Given the description of an element on the screen output the (x, y) to click on. 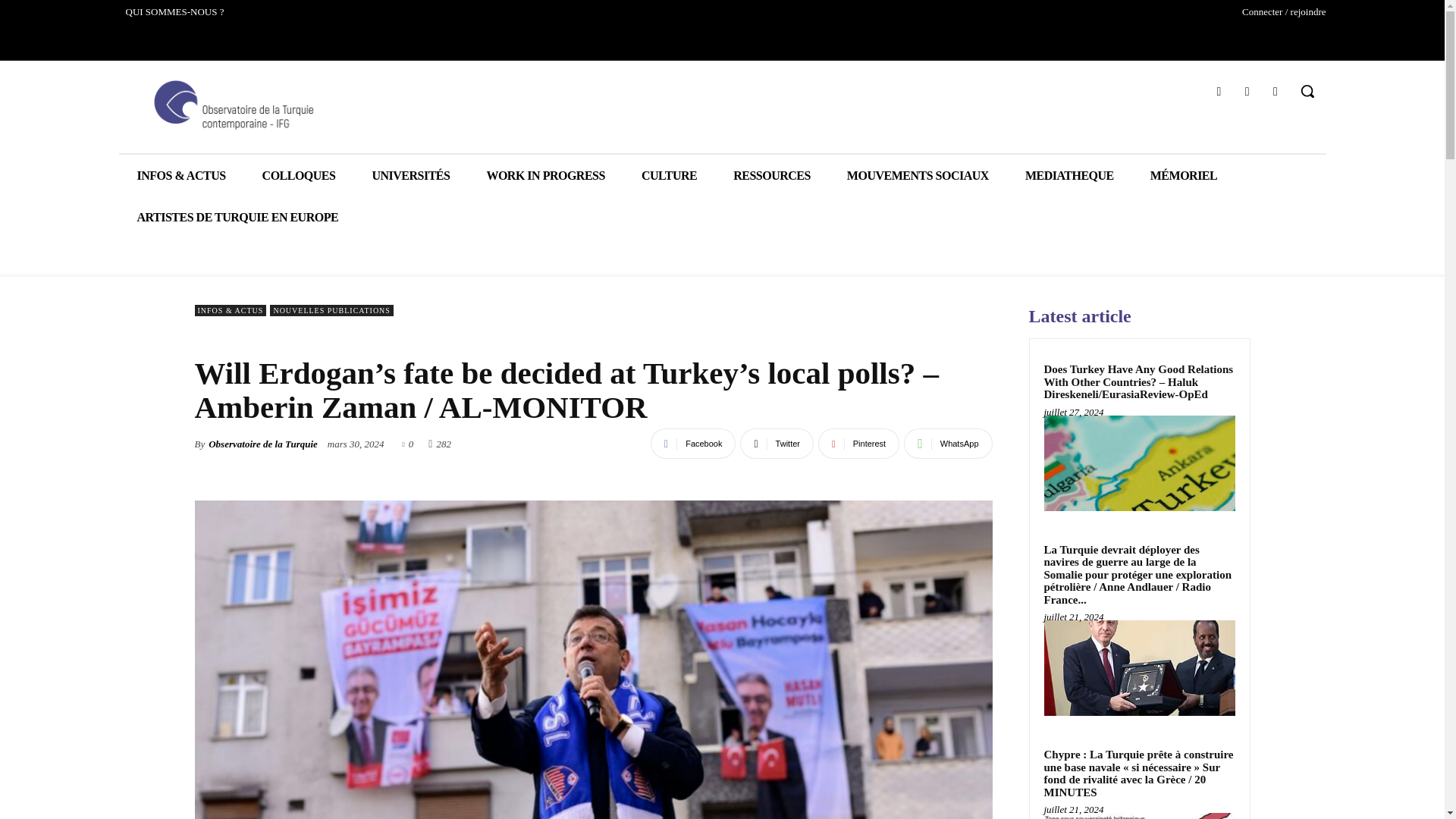
RESSOURCES (771, 175)
ARTISTES DE TURQUIE EN EUROPE (236, 217)
Twitter (776, 443)
WORK IN PROGRESS (545, 175)
WhatsApp (947, 443)
Pinterest (858, 443)
MEDIATHEQUE (1069, 175)
Twitter (1246, 91)
Facebook (692, 443)
QUI SOMMES-NOUS ? (173, 12)
Youtube (1275, 91)
Facebook (1218, 91)
CULTURE (668, 175)
COLLOQUES (298, 175)
